Given the description of an element on the screen output the (x, y) to click on. 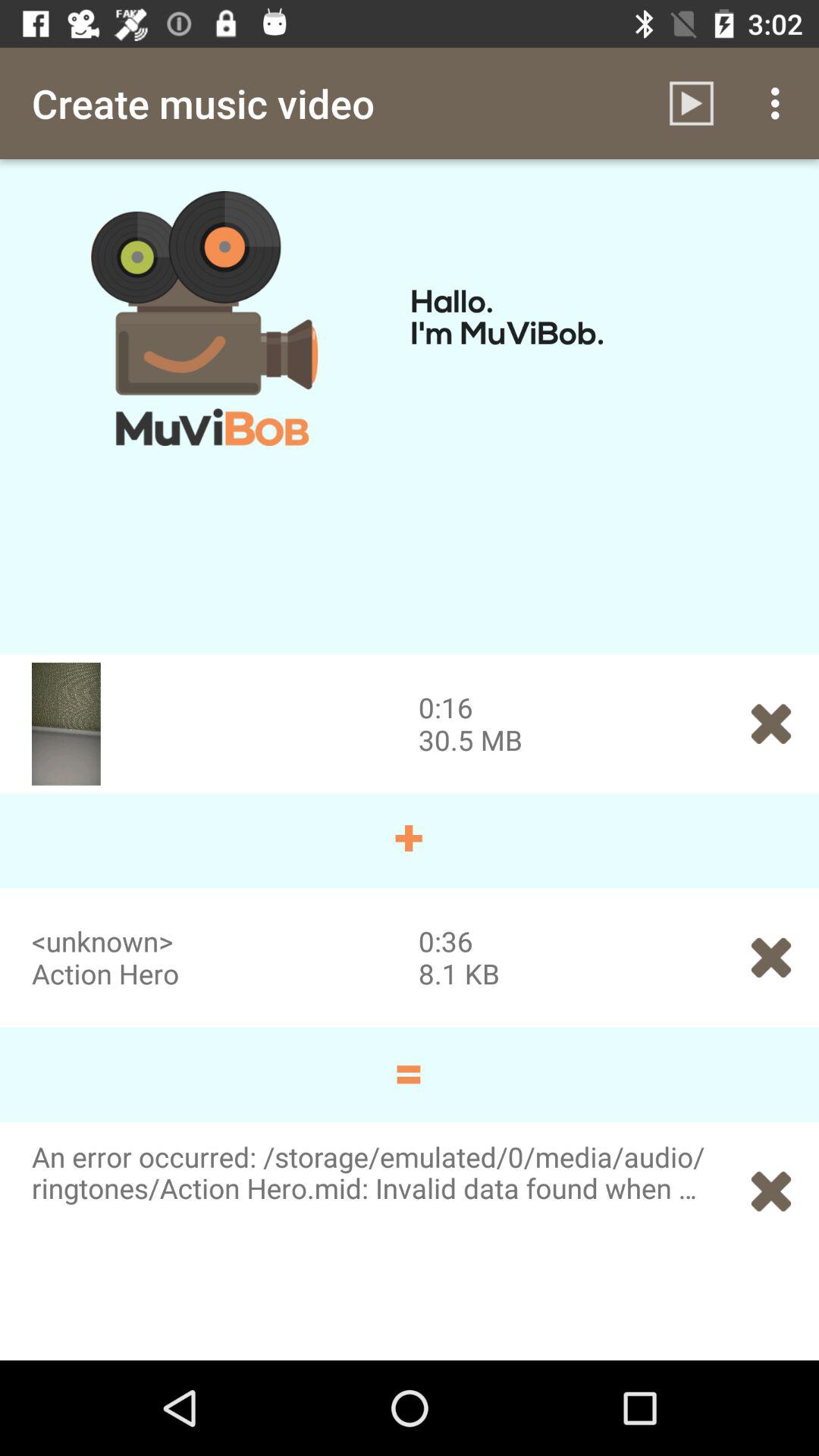
open the item next to create music video app (691, 103)
